Given the description of an element on the screen output the (x, y) to click on. 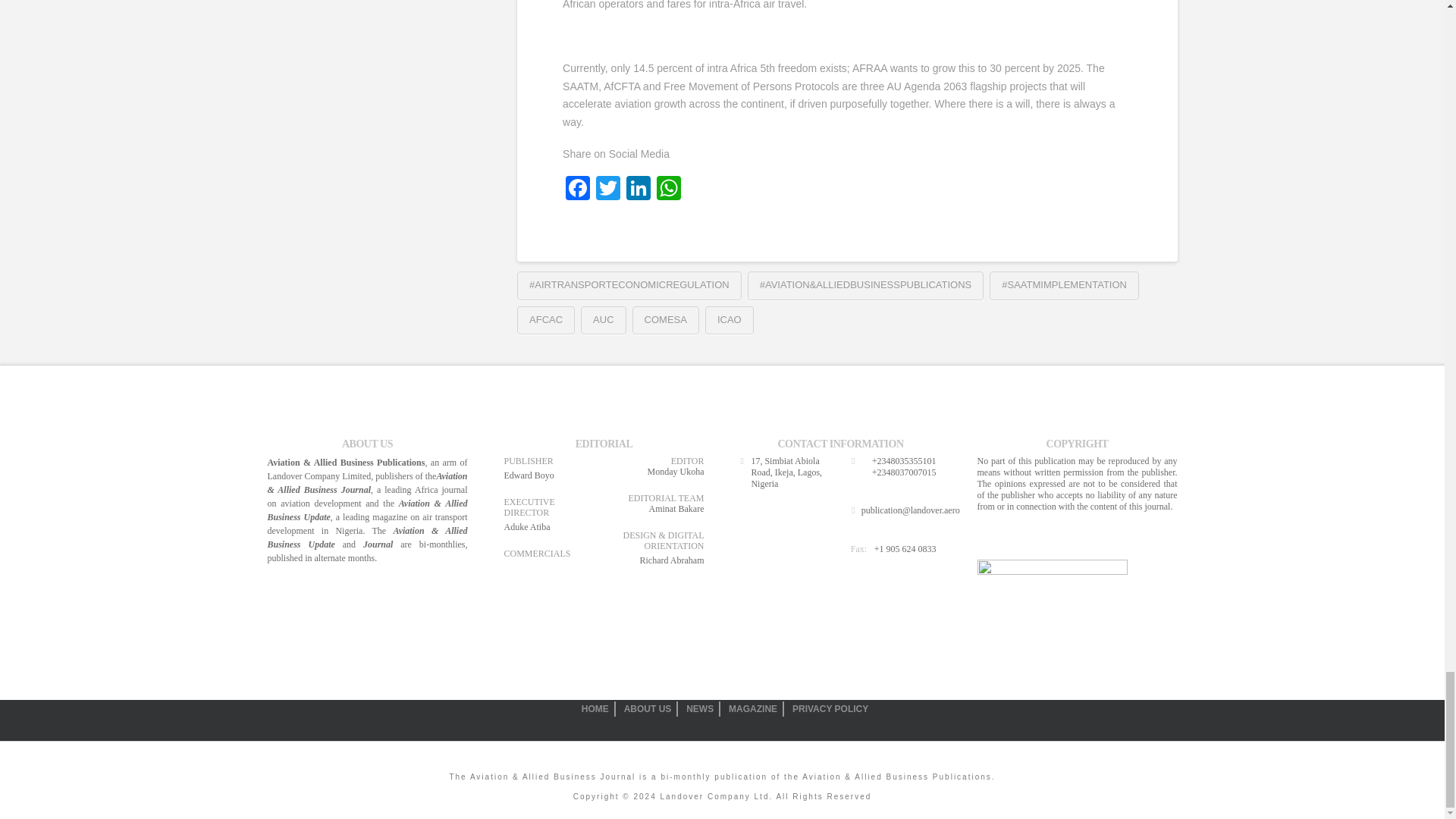
COMESA (664, 320)
Twitter (607, 189)
ICAO (729, 320)
Facebook (577, 189)
AUC (603, 320)
WhatsApp (668, 189)
WhatsApp (668, 189)
AFCAC (545, 320)
Facebook (577, 189)
Twitter (607, 189)
LinkedIn (638, 189)
LinkedIn (638, 189)
